Given the description of an element on the screen output the (x, y) to click on. 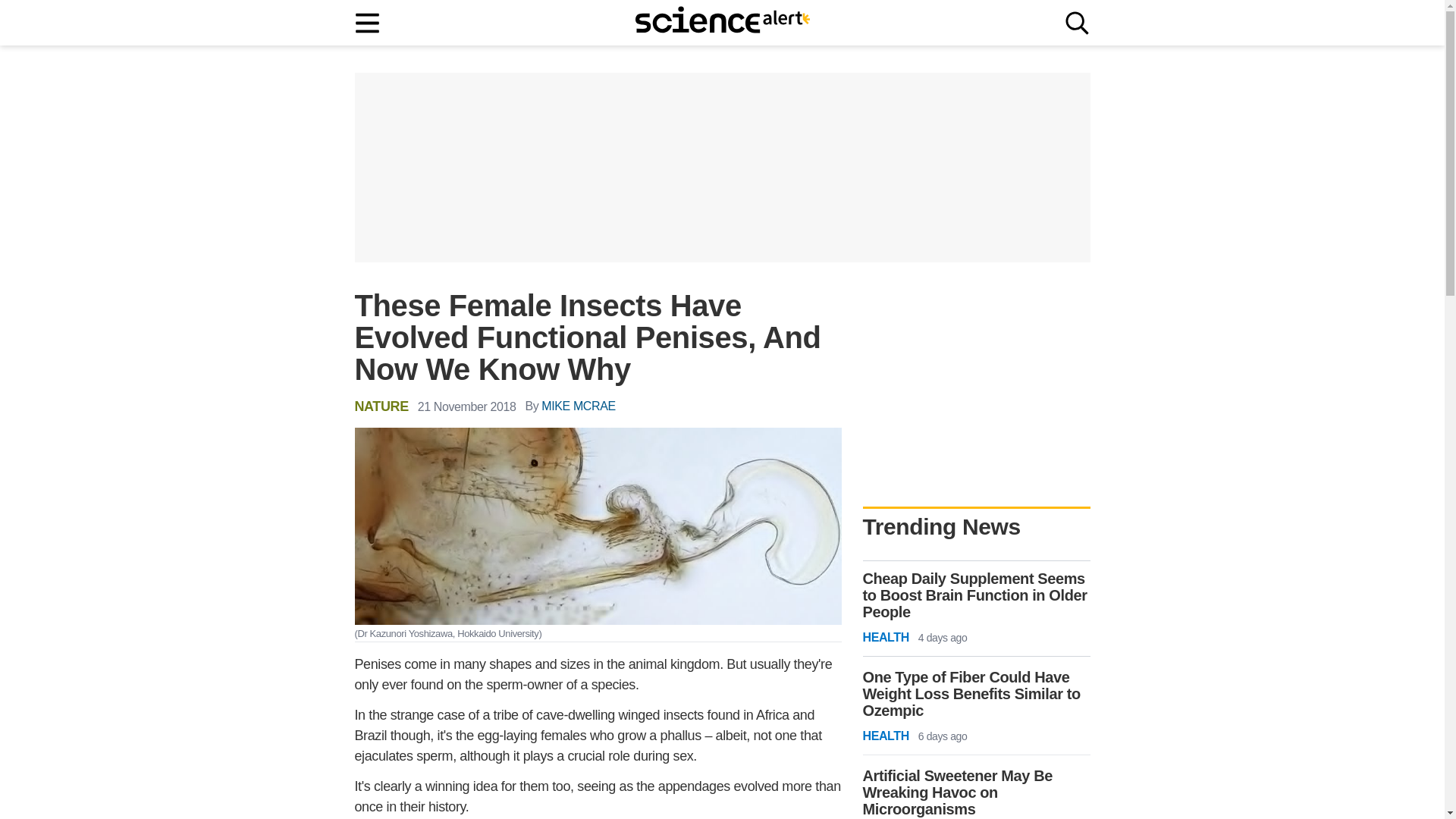
MIKE MCRAE (577, 405)
HEALTH (885, 637)
NATURE (382, 406)
